Given the description of an element on the screen output the (x, y) to click on. 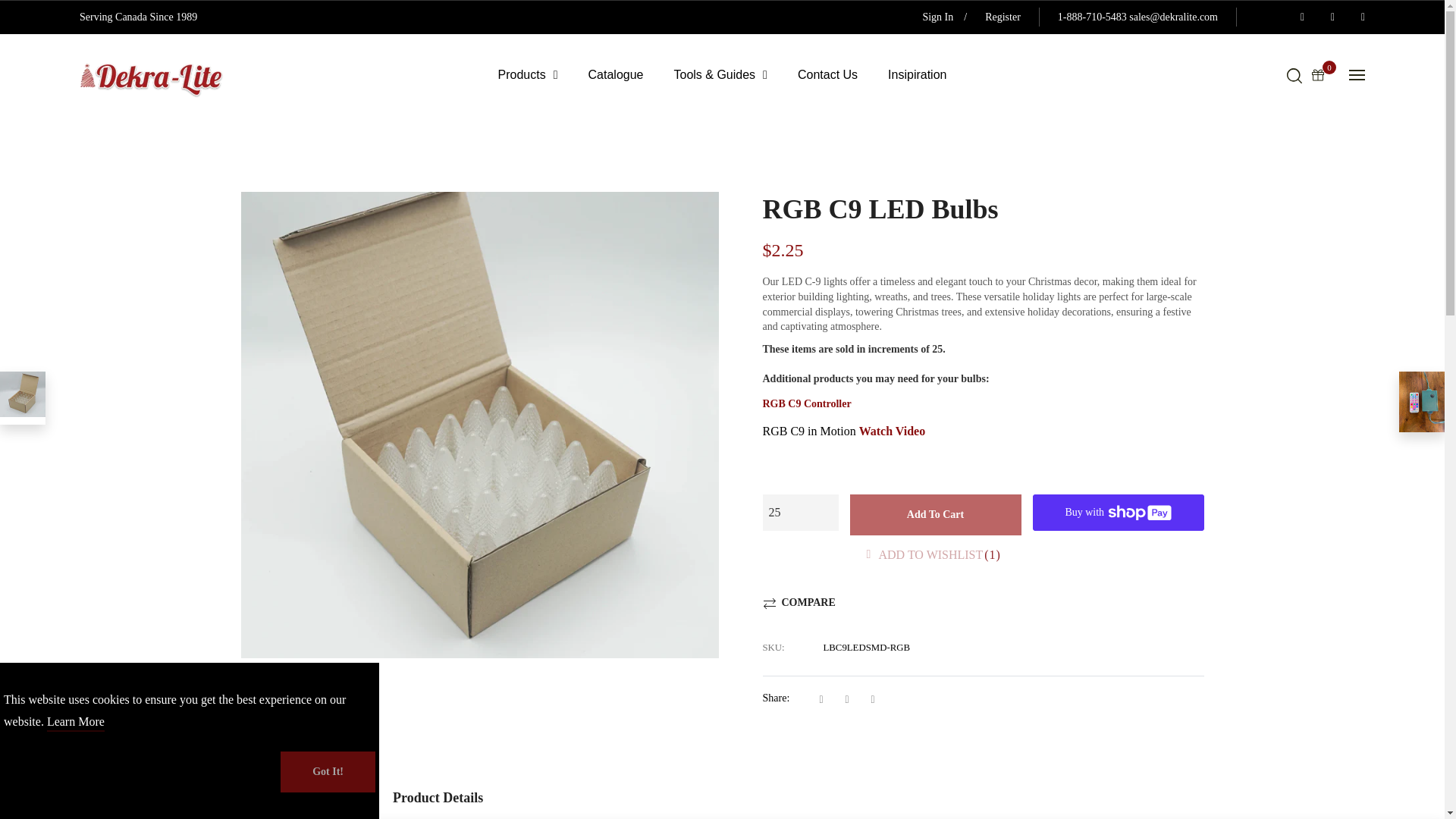
Dekra Lite Store on YouTube (1358, 16)
Register (998, 17)
25 (800, 512)
Sign In (933, 17)
Dekra Lite Store on Facebook (1298, 16)
Dekra Lite Store on Instagram (1328, 16)
1-888-710-5483 (1092, 16)
Products (528, 75)
Products (528, 75)
